Given the description of an element on the screen output the (x, y) to click on. 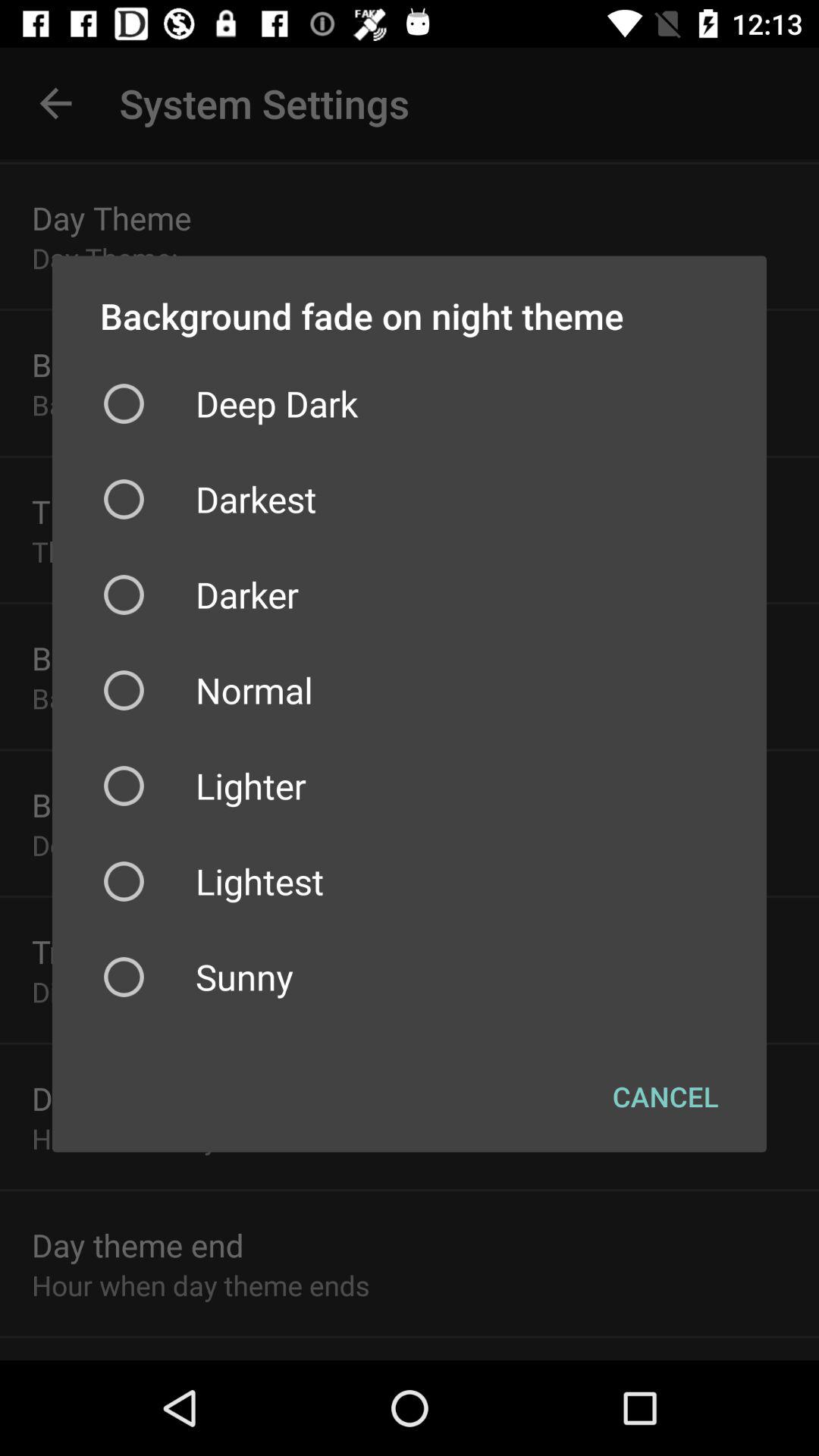
choose the cancel (665, 1096)
